Given the description of an element on the screen output the (x, y) to click on. 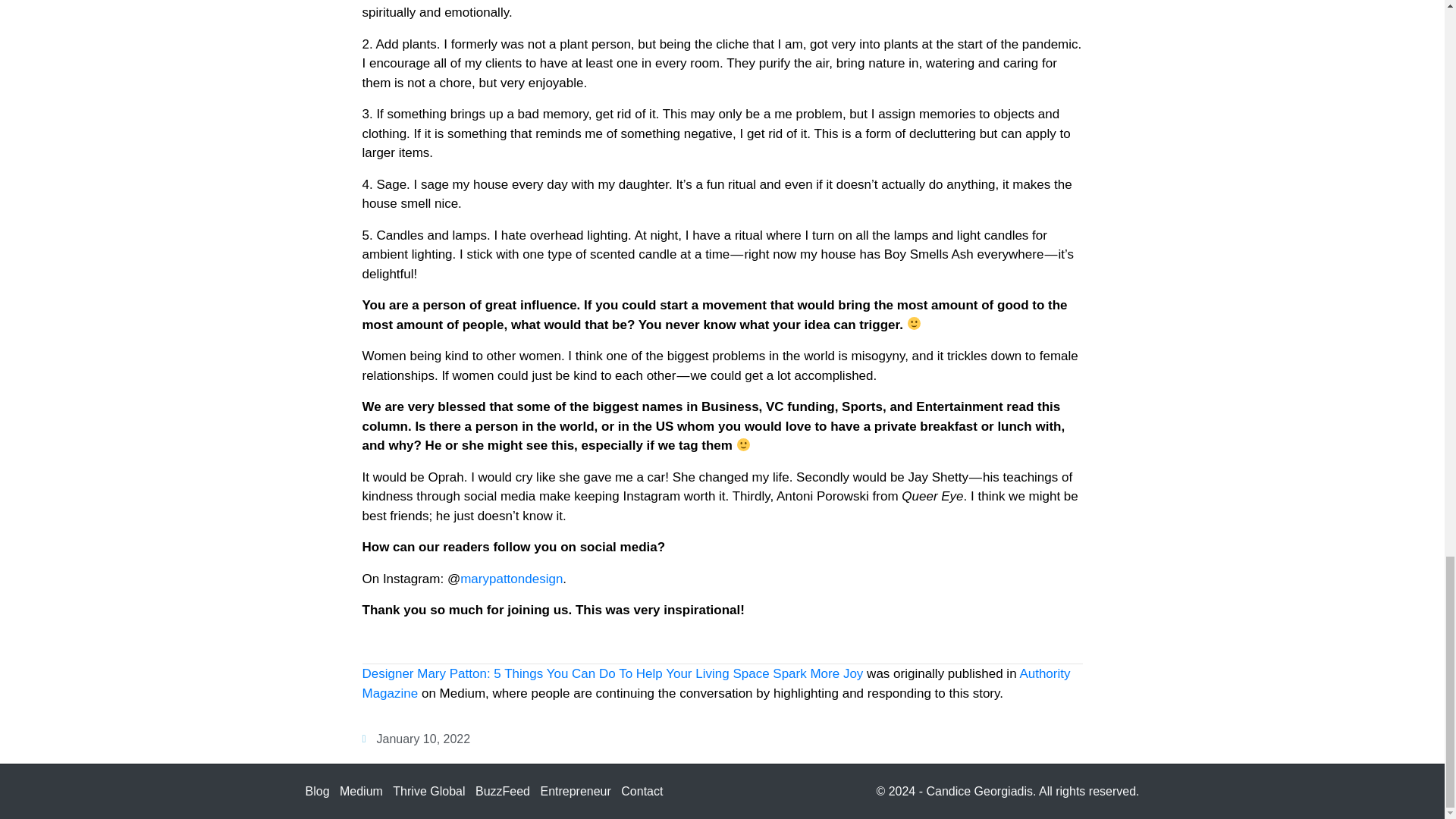
Contact (641, 790)
Entrepreneur (575, 790)
marypattondesign (511, 578)
Medium (360, 790)
Authority Magazine (716, 683)
January 10, 2022 (416, 739)
Blog (316, 790)
BuzzFeed (502, 790)
Thrive Global (428, 790)
